Given the description of an element on the screen output the (x, y) to click on. 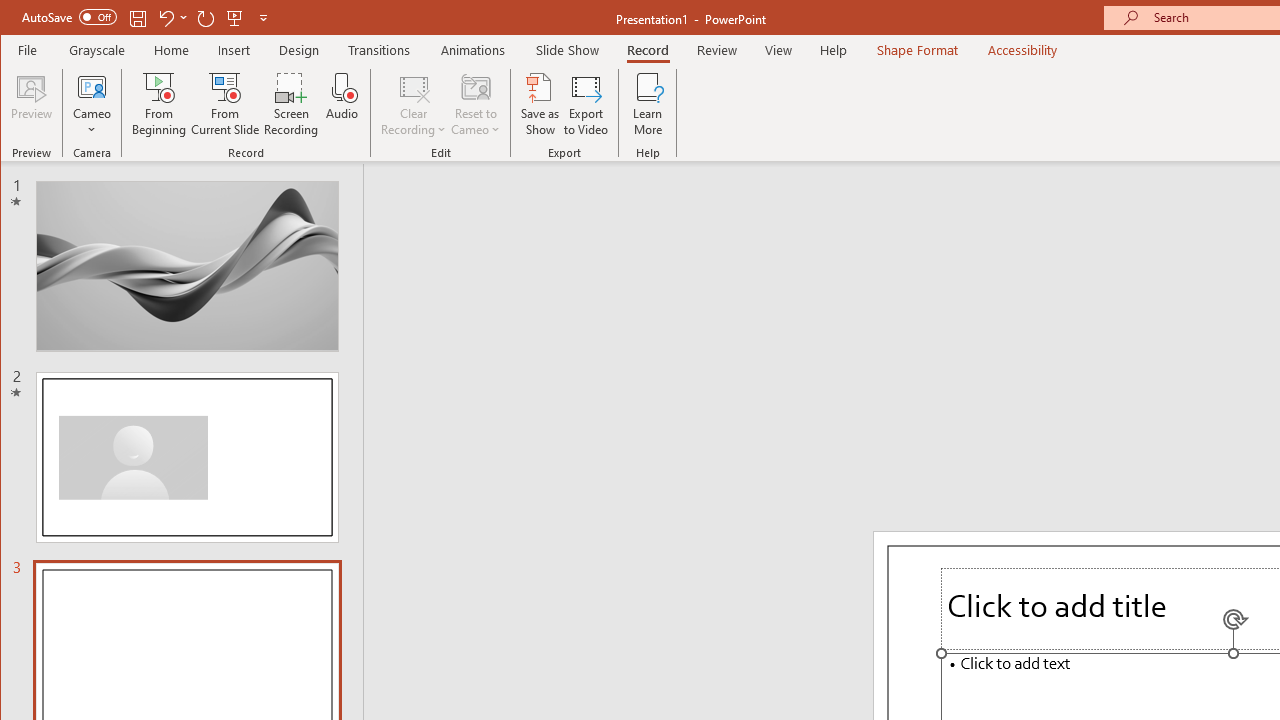
Save as Show (539, 104)
Export to Video (585, 104)
Clear Recording (413, 104)
From Current Slide... (225, 104)
Grayscale (97, 50)
